Given the description of an element on the screen output the (x, y) to click on. 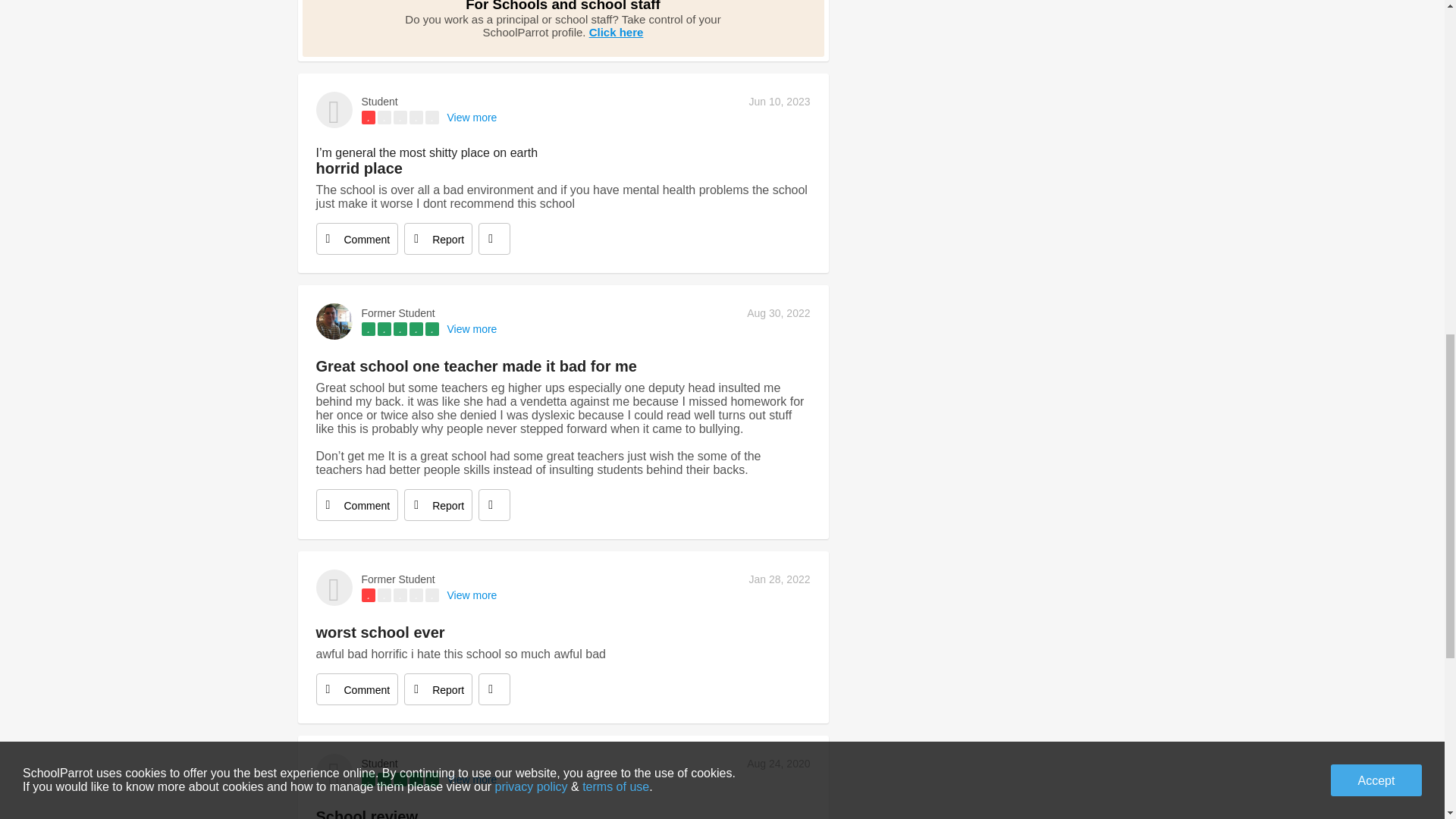
View more (471, 328)
Comment (356, 689)
View more (471, 779)
Report (437, 504)
Report (437, 689)
Comment (356, 238)
View more (471, 594)
Comment (356, 504)
View more (471, 117)
Click here (616, 31)
Report (437, 238)
